Given the description of an element on the screen output the (x, y) to click on. 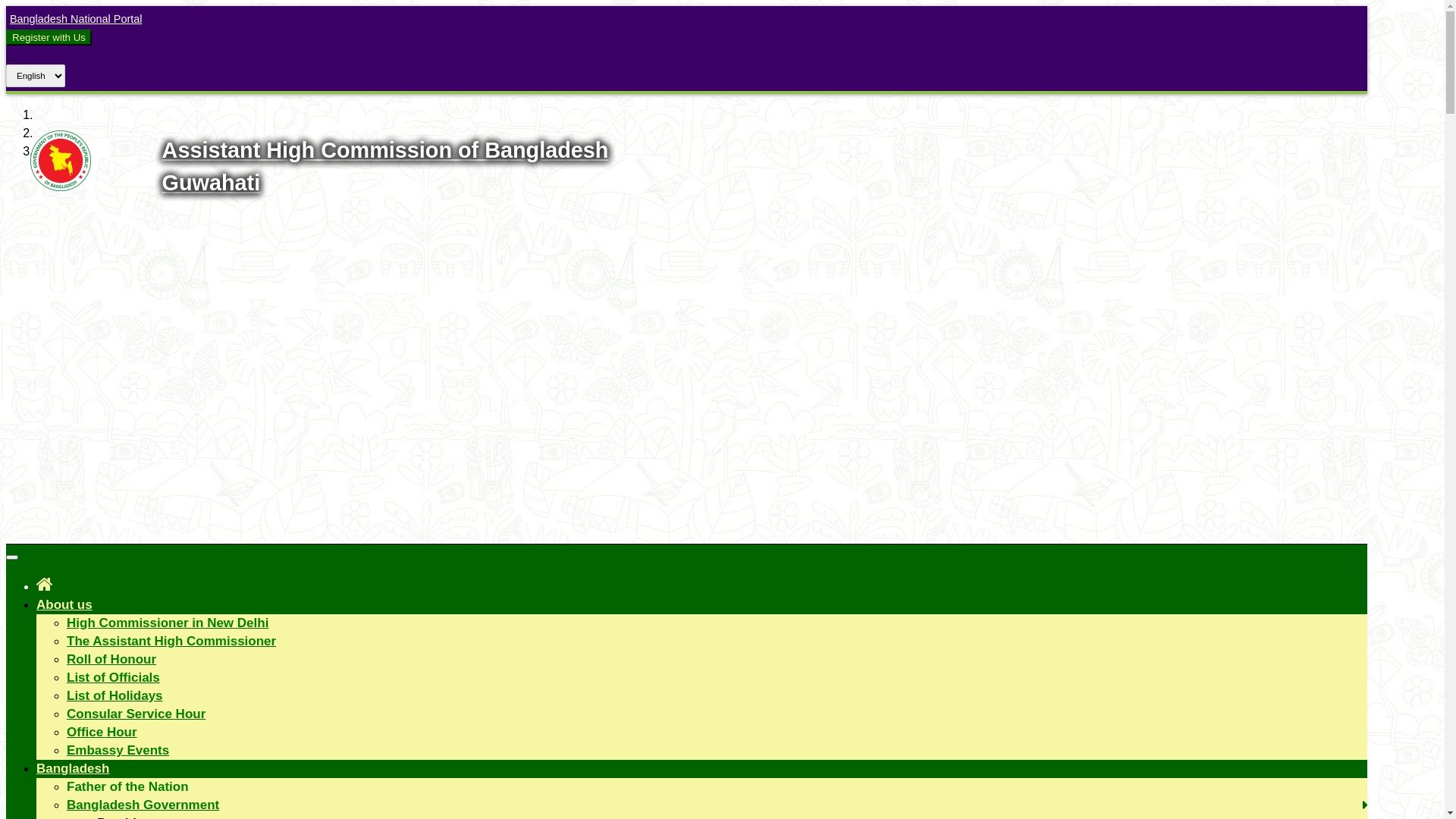
Father of the Nation Element type: text (127, 786)
Embassy Events Element type: text (117, 750)
List of Officials Element type: text (113, 677)
Office Hour Element type: text (101, 731)
Register with Us Element type: text (48, 37)
Bangladesh National Portal Element type: text (73, 18)
Bangladesh Government Element type: text (142, 804)
About us Element type: text (64, 604)
Assistant High Commission of Bangladesh
Guwahati Element type: text (385, 166)
Home Element type: hover (44, 584)
Consular Service Hour Element type: text (135, 713)
Logo Element type: hover (60, 186)
Bangladesh Element type: text (72, 768)
Register with Us Element type: text (48, 37)
List of Holidays Element type: text (114, 695)
Roll of Honour Element type: text (111, 659)
High Commissioner in New Delhi Element type: text (167, 622)
The Assistant High Commissioner Element type: text (171, 640)
